Given the description of an element on the screen output the (x, y) to click on. 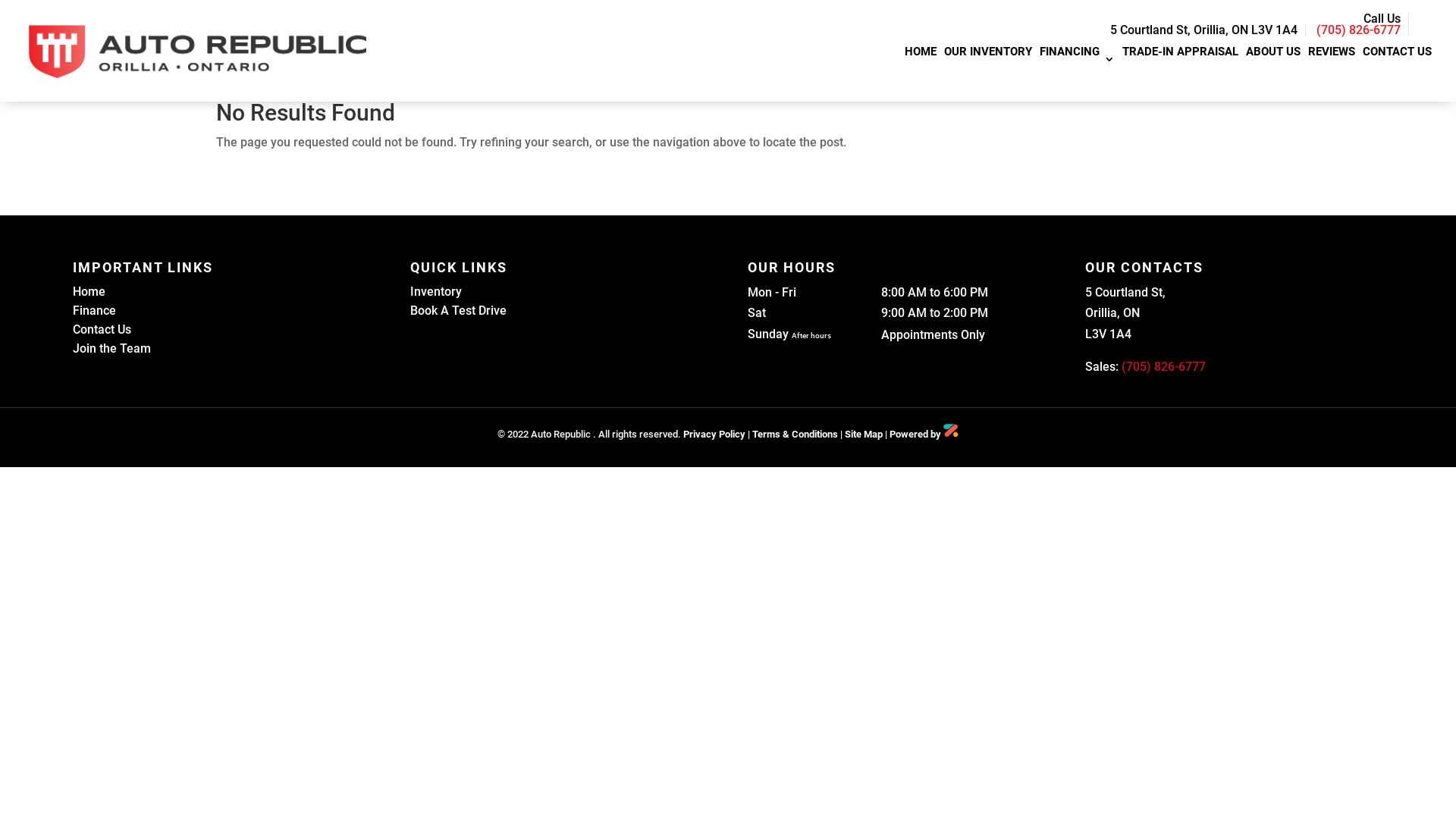
Privacy Policy Element type: text (714, 433)
OUR INVENTORY Element type: text (988, 54)
Site Map Element type: text (863, 433)
Book A Test Drive Element type: text (458, 310)
Contact Us Element type: text (101, 329)
REVIEWS Element type: text (1331, 54)
Terms & Conditions Element type: text (794, 433)
Join the Team Element type: text (111, 348)
Powered by Element type: text (923, 433)
(705) 826-6777 Element type: text (1358, 29)
CONTACT US Element type: text (1396, 54)
(705) 826-6777 Element type: text (1163, 366)
Finance Element type: text (94, 310)
HOME Element type: text (920, 54)
autorepublic_updated Element type: hover (197, 51)
Inventory Element type: text (435, 291)
FINANCING Element type: text (1076, 54)
ABOUT US Element type: text (1272, 54)
TRADE-IN APPRAISAL Element type: text (1180, 54)
Home Element type: text (88, 291)
